Given the description of an element on the screen output the (x, y) to click on. 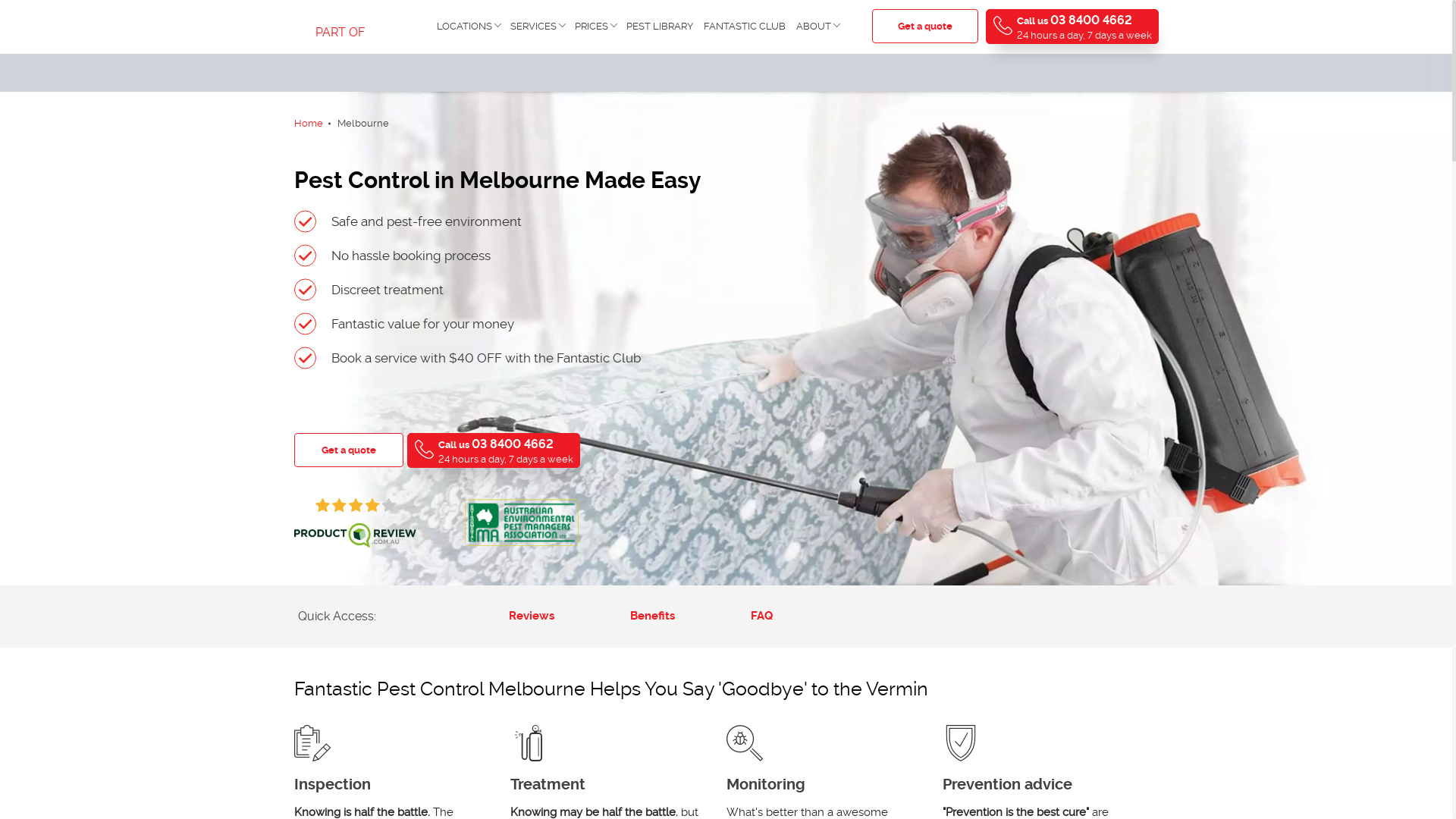
Call us 03 8400 4662
24 hours a day, 7 days a week Element type: text (1071, 26)
FAQ Element type: text (761, 615)
SERVICES Element type: text (537, 26)
PEST LIBRARY Element type: text (659, 26)
LOCATIONS Element type: text (467, 26)
Get a quote Element type: text (925, 26)
PMA Element type: hover (520, 521)
FANTASTIC CLUB Element type: text (744, 26)
Home Element type: text (308, 122)
PRICES Element type: text (594, 26)
Call us 03 8400 4662
24 hours a day, 7 days a week Element type: text (492, 450)
ABOUT Element type: text (817, 26)
Reviews Element type: text (531, 615)
Get a quote Element type: text (348, 450)
Benefits Element type: text (652, 615)
